Given the description of an element on the screen output the (x, y) to click on. 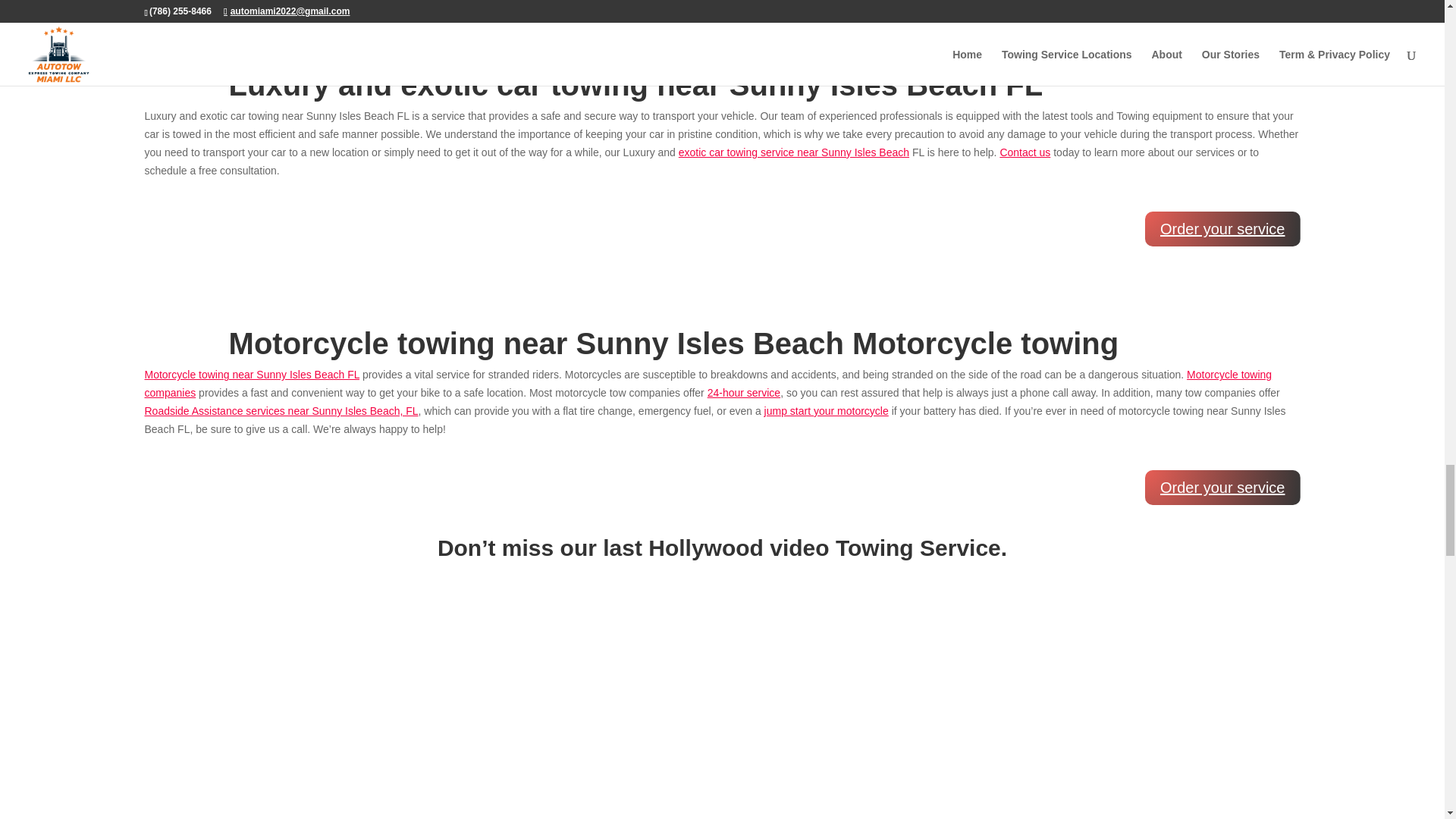
exotic car towing service near Hollywood (793, 152)
24-hour Towing Motorcycle near Hollywood FL (743, 392)
jump start your motorcycle (826, 410)
24-hour service (743, 392)
exotic car towing service near Sunny Isles Beach (793, 152)
Contact us (1023, 152)
Motorcycle towing near Sunny Isles Beach FL (251, 374)
Motorcycle towing companies near Hollywood (707, 383)
Motorcycle towing near Hollywood FL (251, 374)
Motorcycle towing companies (707, 383)
Order your service (1222, 228)
Roadside Assistance services near Hollywood, FL (280, 410)
Order your service (1222, 487)
Roadside Assistance services near Sunny Isles Beach, FL (280, 410)
